Given the description of an element on the screen output the (x, y) to click on. 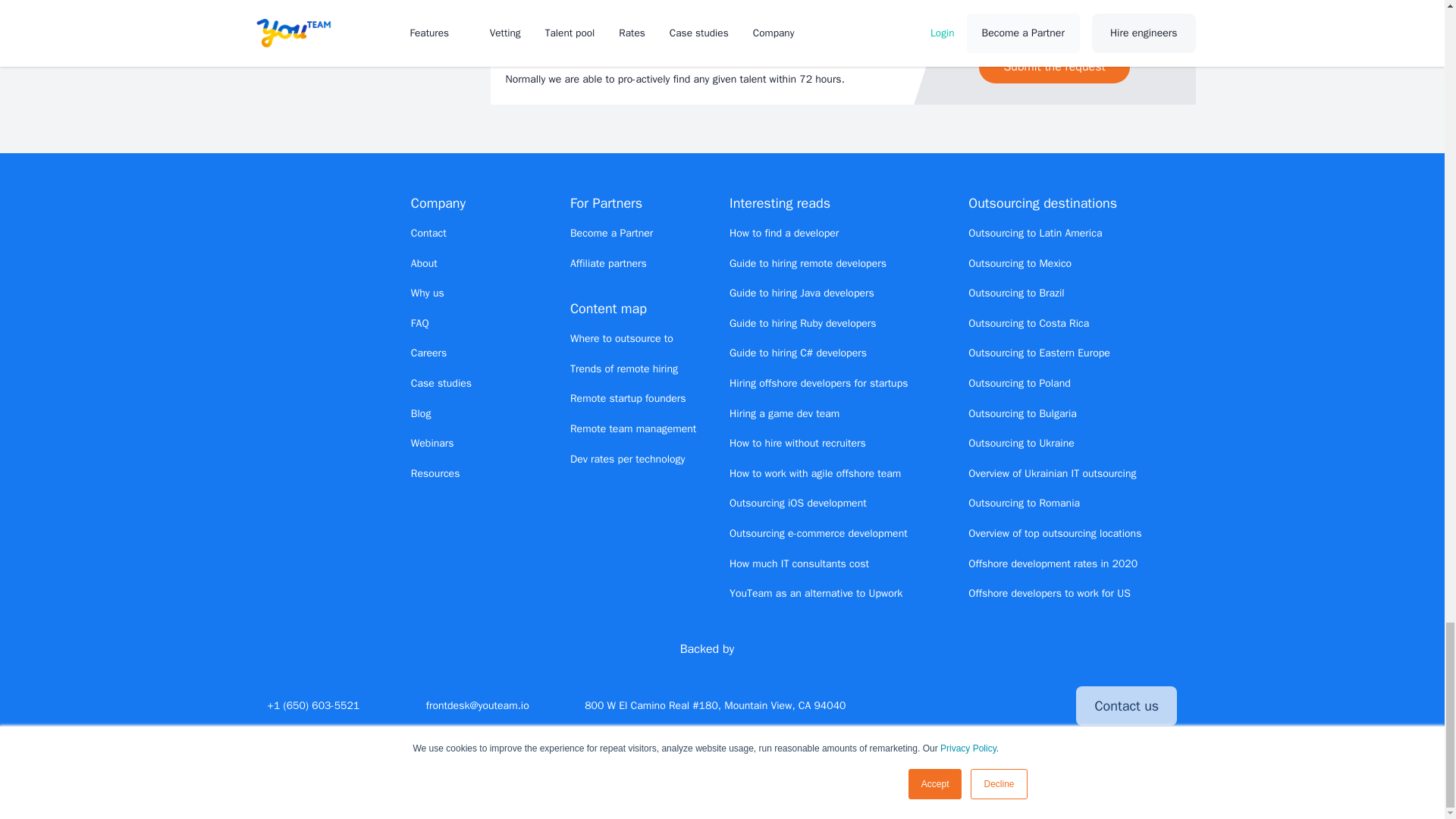
LinkedIn (964, 705)
Privacy Policy (855, 790)
Facebook (991, 705)
Twitter (937, 705)
